Given the description of an element on the screen output the (x, y) to click on. 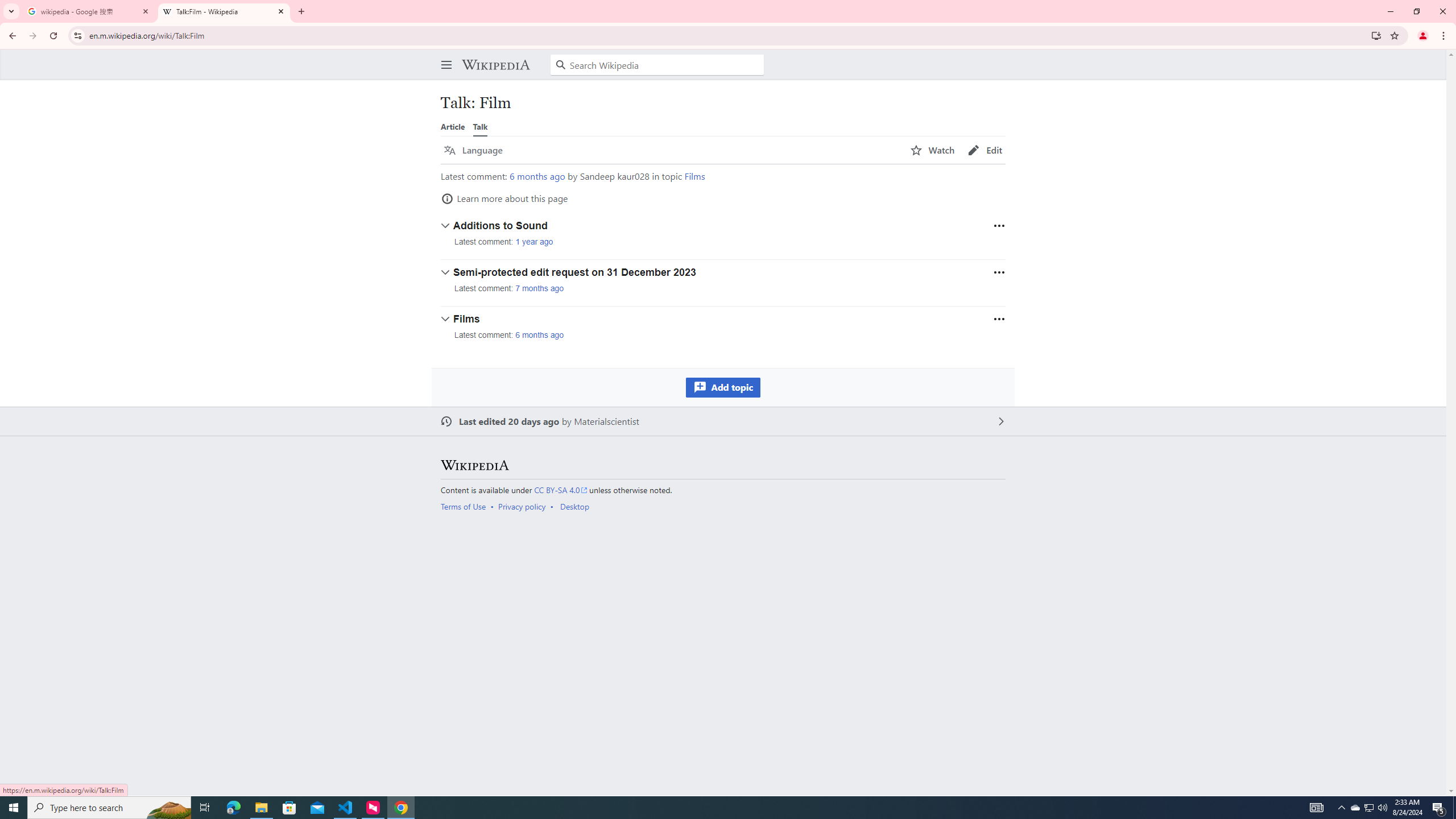
Edit (984, 149)
1 year ago (534, 241)
Talk:Film - Wikipedia (224, 11)
Last edited 20 days ago by Materialscientist (722, 421)
AutomationID: language-selector (670, 150)
Talk (480, 126)
Terms of Use (462, 505)
Article (452, 126)
Films (694, 176)
6 months ago (539, 334)
Desktop (574, 505)
Wikipedia (495, 64)
AutomationID: footer-info-copyright (720, 490)
